Given the description of an element on the screen output the (x, y) to click on. 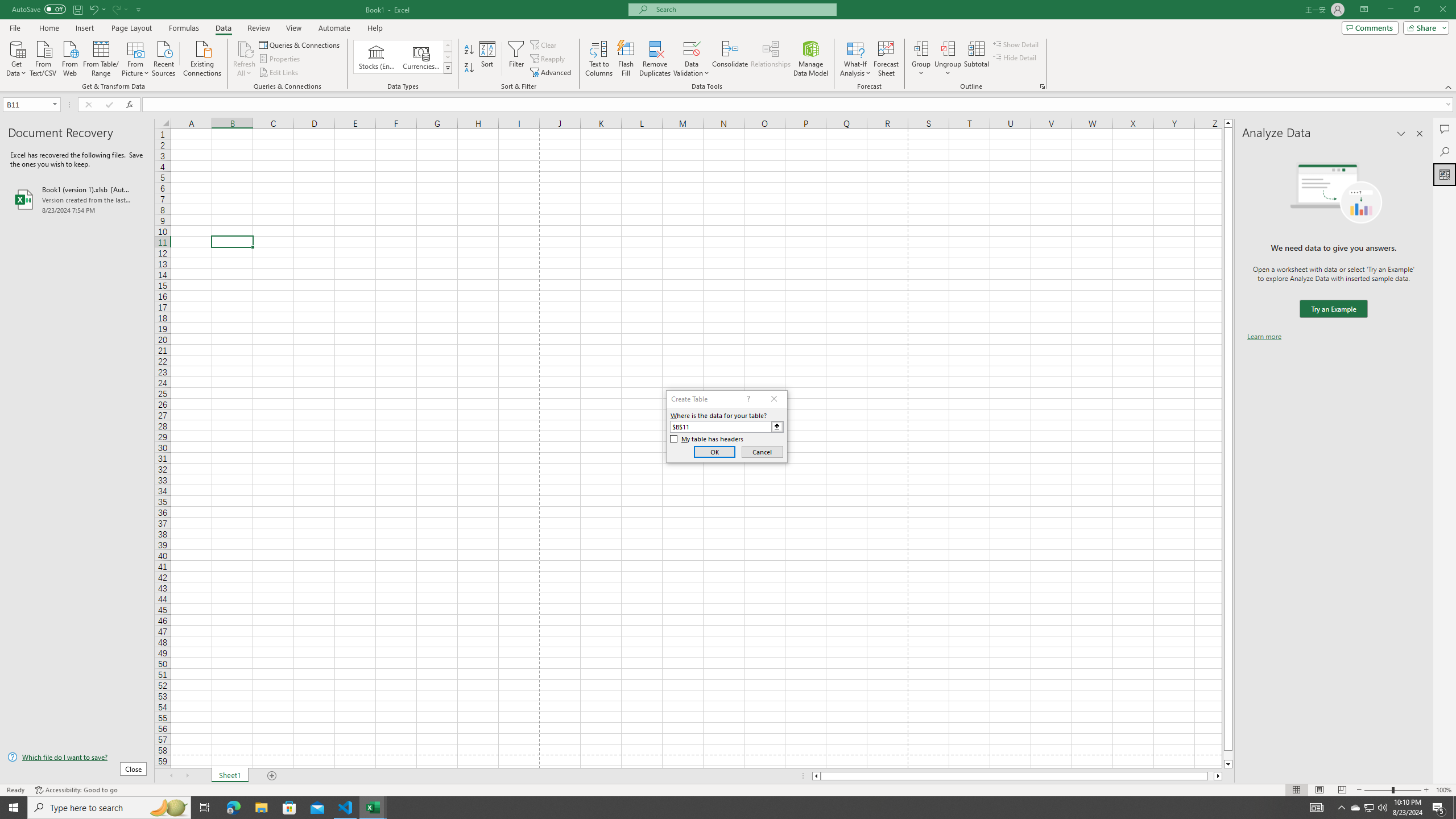
Stocks (English) (375, 56)
Automate (334, 28)
Reapply (548, 58)
Learn more (1264, 336)
Which file do I want to save? (77, 757)
Comments (1444, 128)
Row Down (448, 56)
Column right (1218, 775)
Row up (448, 45)
Page down (1228, 755)
Microsoft search (742, 9)
